Given the description of an element on the screen output the (x, y) to click on. 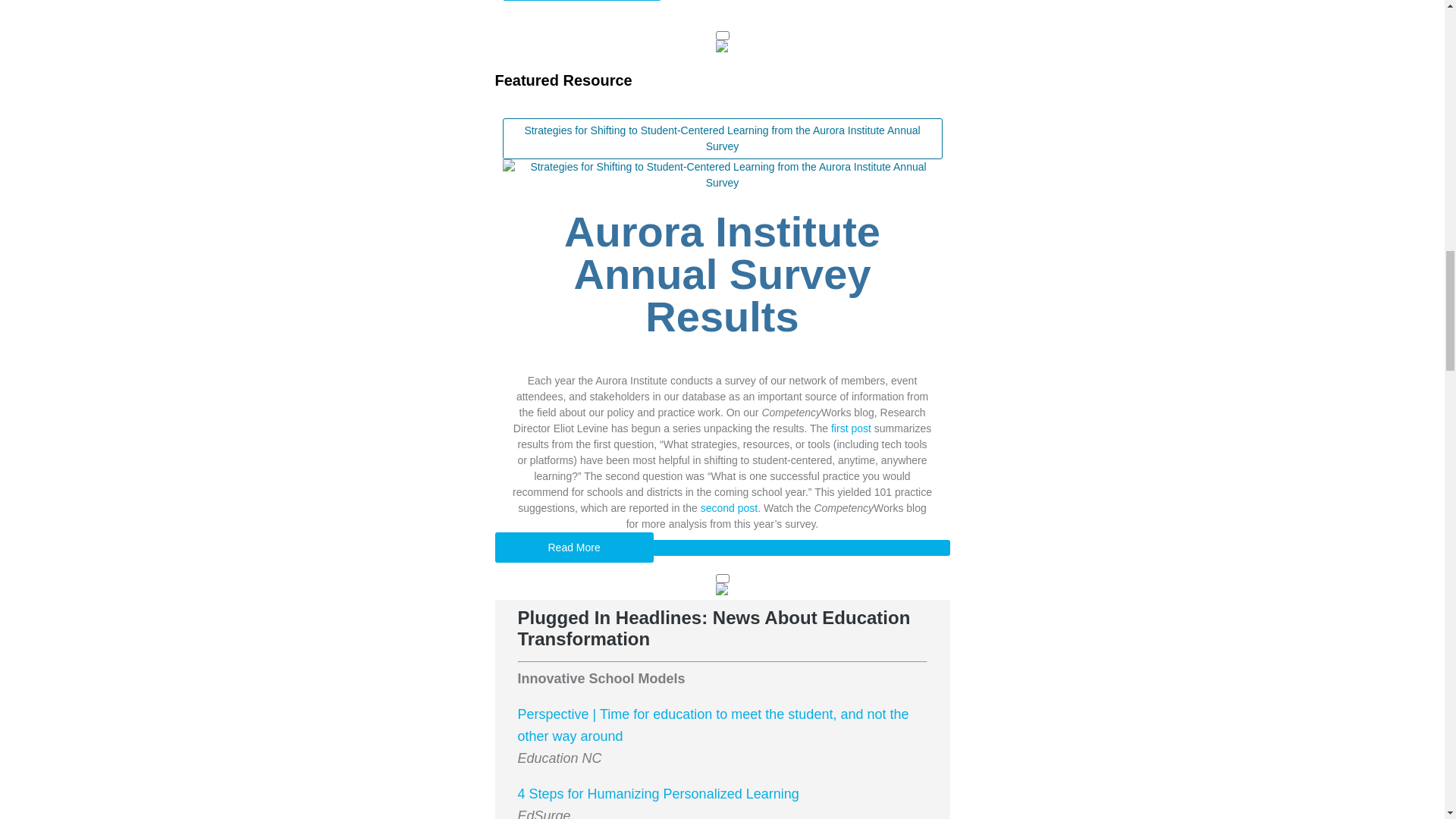
second post (729, 508)
Read More (573, 547)
first post (850, 428)
second post (729, 508)
4 Steps for Humanizing Personalized Learning (656, 793)
first post (850, 428)
